Given the description of an element on the screen output the (x, y) to click on. 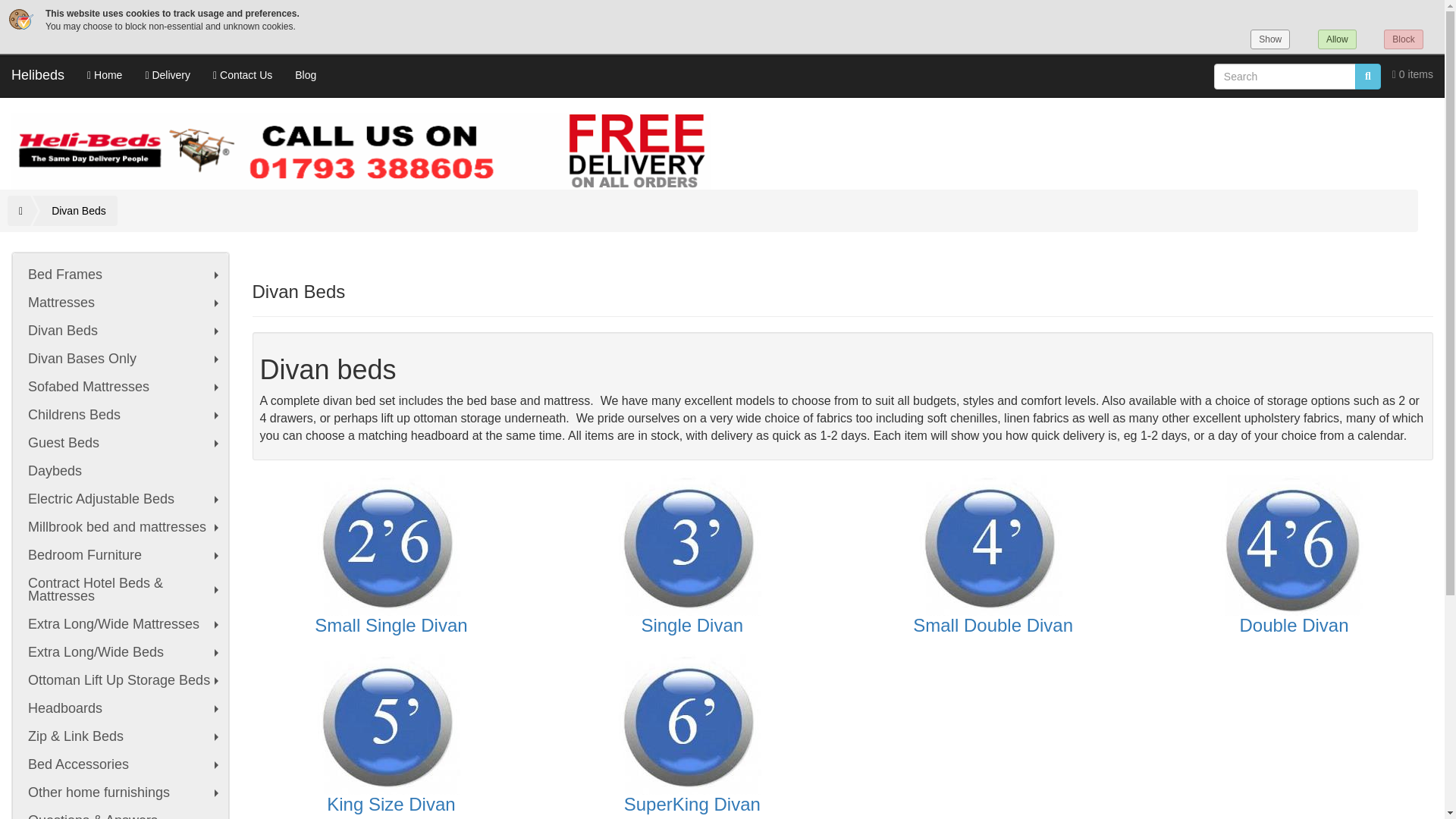
Small Single Divan (390, 545)
Single Divan (691, 545)
Allow (1336, 39)
Helibeds (37, 75)
Block (1403, 39)
Small Double Divan (993, 545)
Bed Frames (120, 275)
Divan Beds (82, 210)
King Size Divan (390, 724)
Delivery (167, 75)
